Given the description of an element on the screen output the (x, y) to click on. 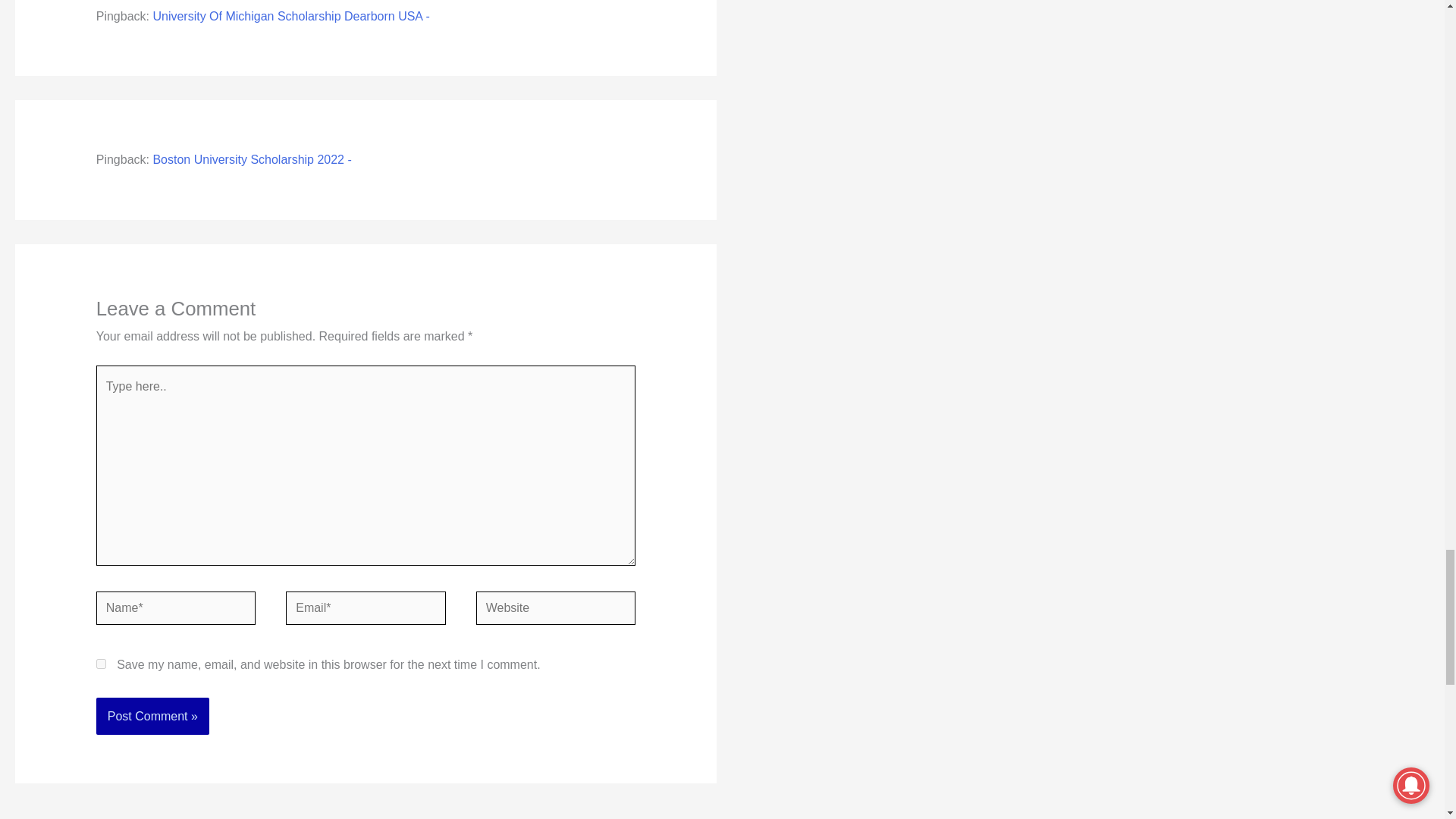
yes (101, 664)
